Given the description of an element on the screen output the (x, y) to click on. 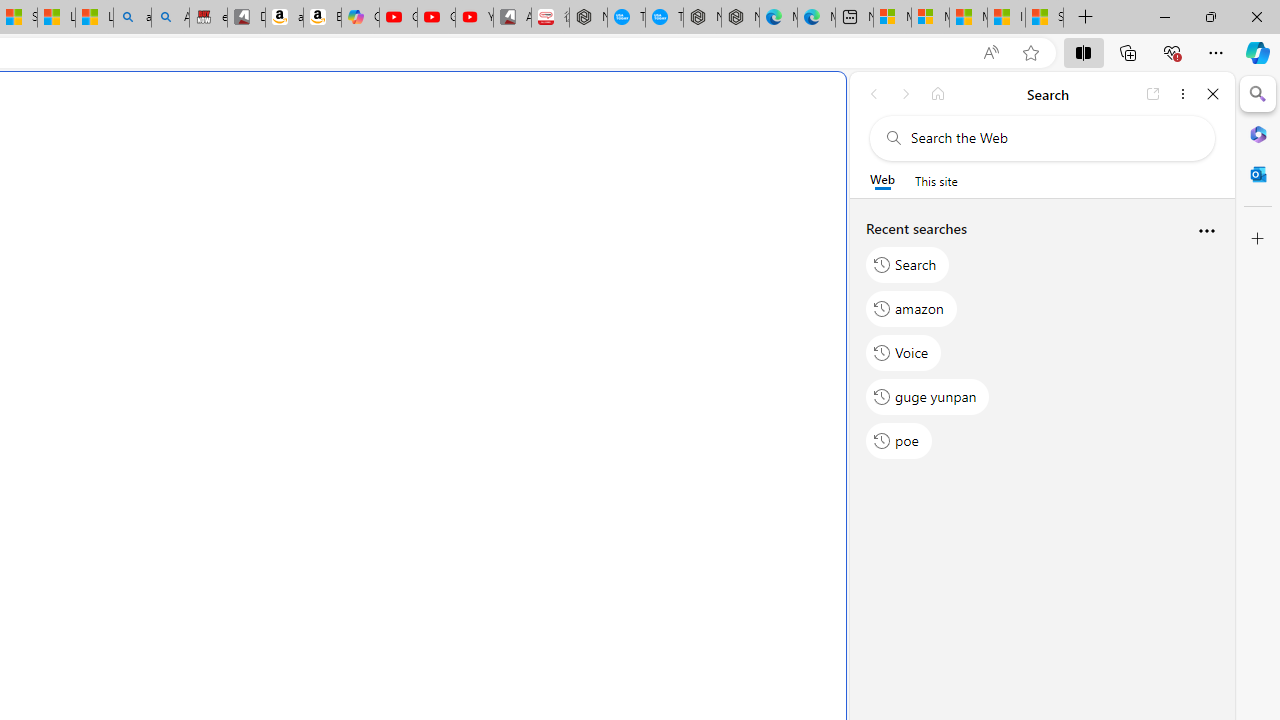
All Cubot phones (512, 17)
Open link in new tab (1153, 93)
Read aloud this page (Ctrl+Shift+U) (991, 53)
Microsoft account | Privacy (929, 17)
Copilot (359, 17)
Web scope (882, 180)
